Given the description of an element on the screen output the (x, y) to click on. 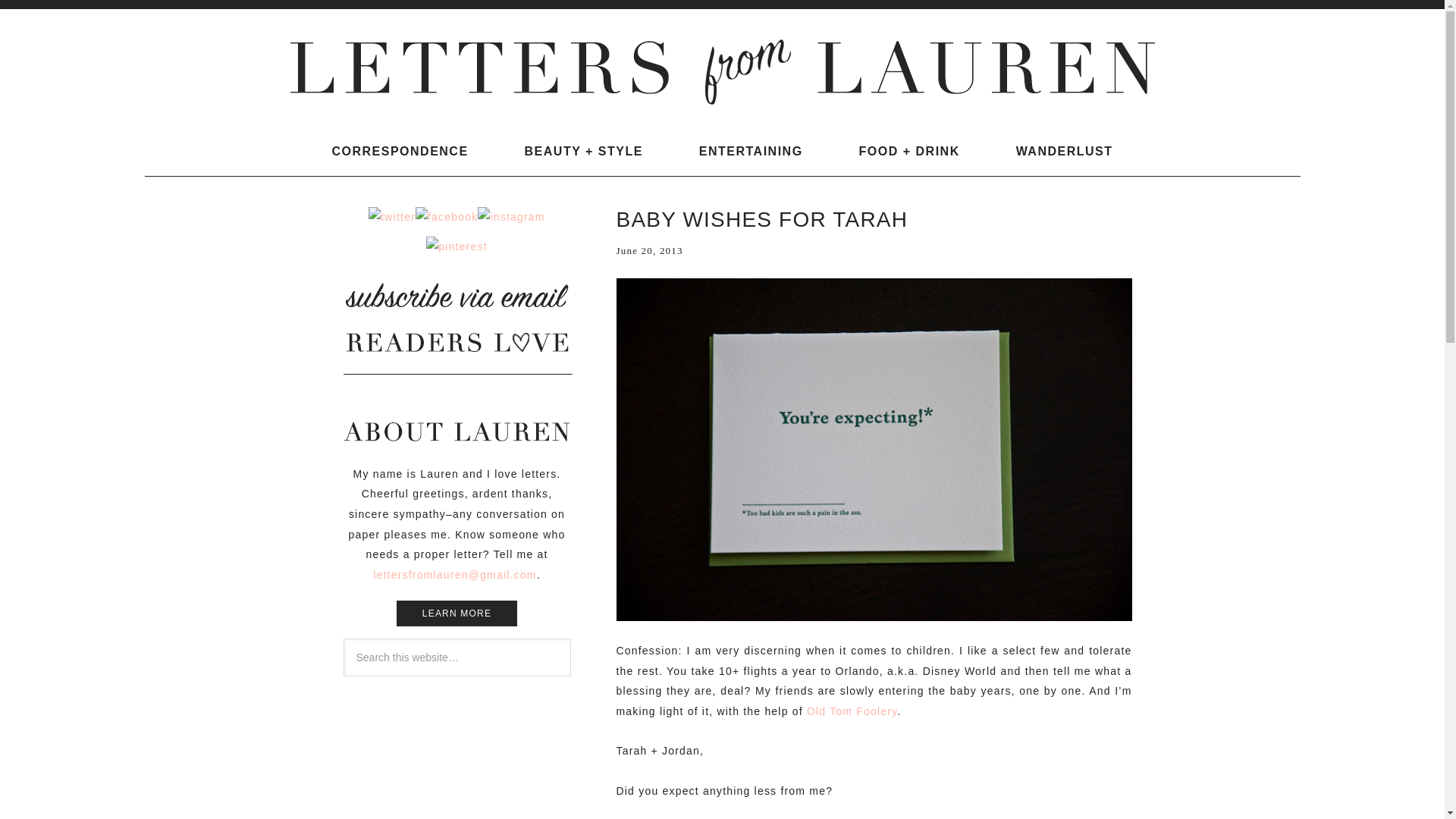
letters from Lauren (721, 71)
WANDERLUST (1064, 151)
Old Tom Foolery (851, 711)
ENTERTAINING (750, 151)
LEARN MORE (456, 613)
CORRESPONDENCE (399, 151)
